Given the description of an element on the screen output the (x, y) to click on. 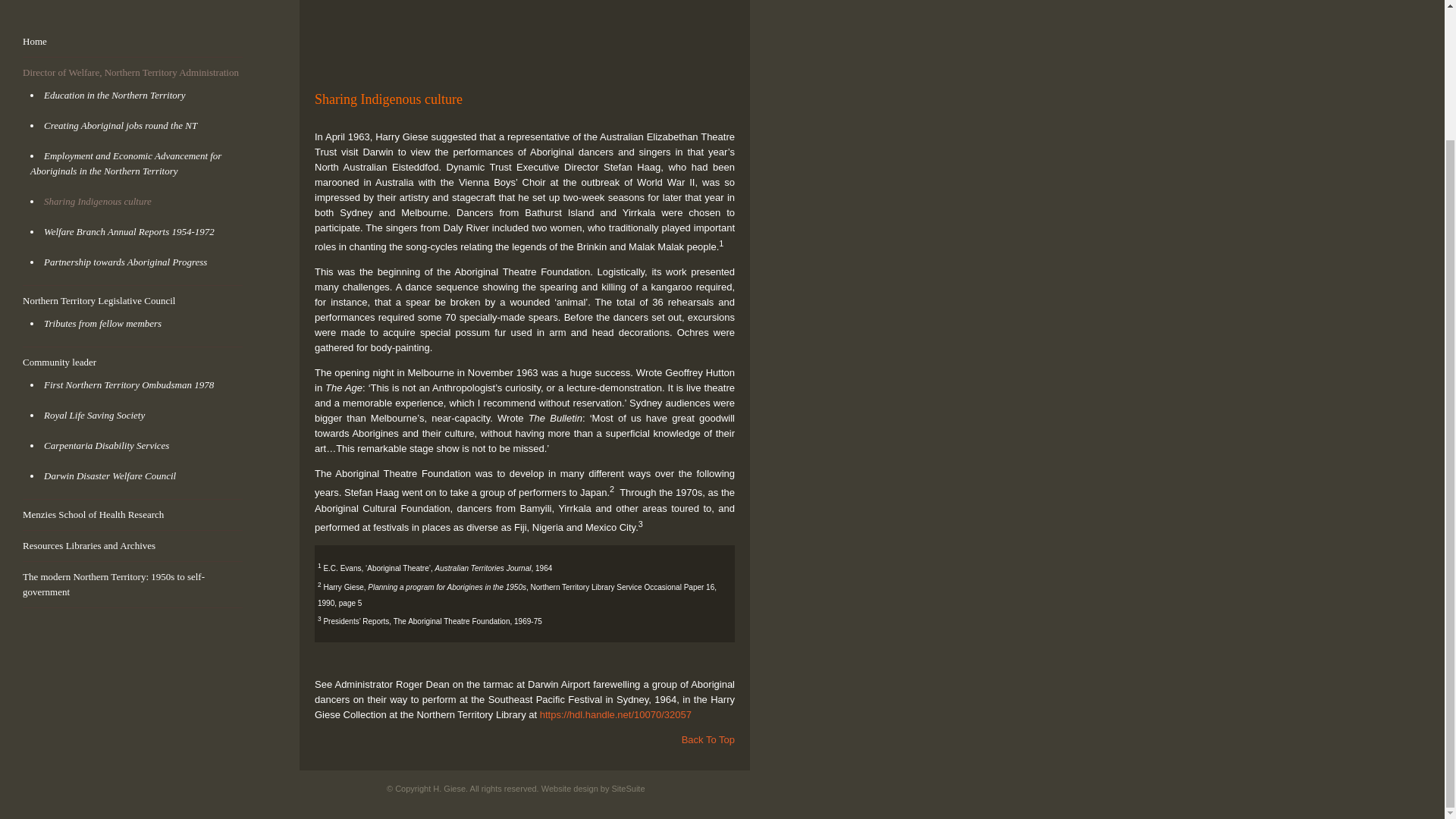
Northern Territory Legislative Council (98, 300)
Creating Aboriginal jobs round the NT (119, 125)
Website design (569, 788)
Director of Welfare, Northern Territory Administration (130, 71)
Back To Top (708, 739)
Tributes from fellow members (102, 323)
First Northern Territory Ombudsman 1978 (128, 384)
Carpentaria Disability Services (105, 445)
Darwin Disaster Welfare Council (109, 475)
Education in the Northern Territory (114, 94)
Community leader (59, 361)
Menzies School of Health Research (93, 514)
Home (34, 41)
Sharing Indigenous culture (97, 201)
Royal Life Saving Society (93, 414)
